Given the description of an element on the screen output the (x, y) to click on. 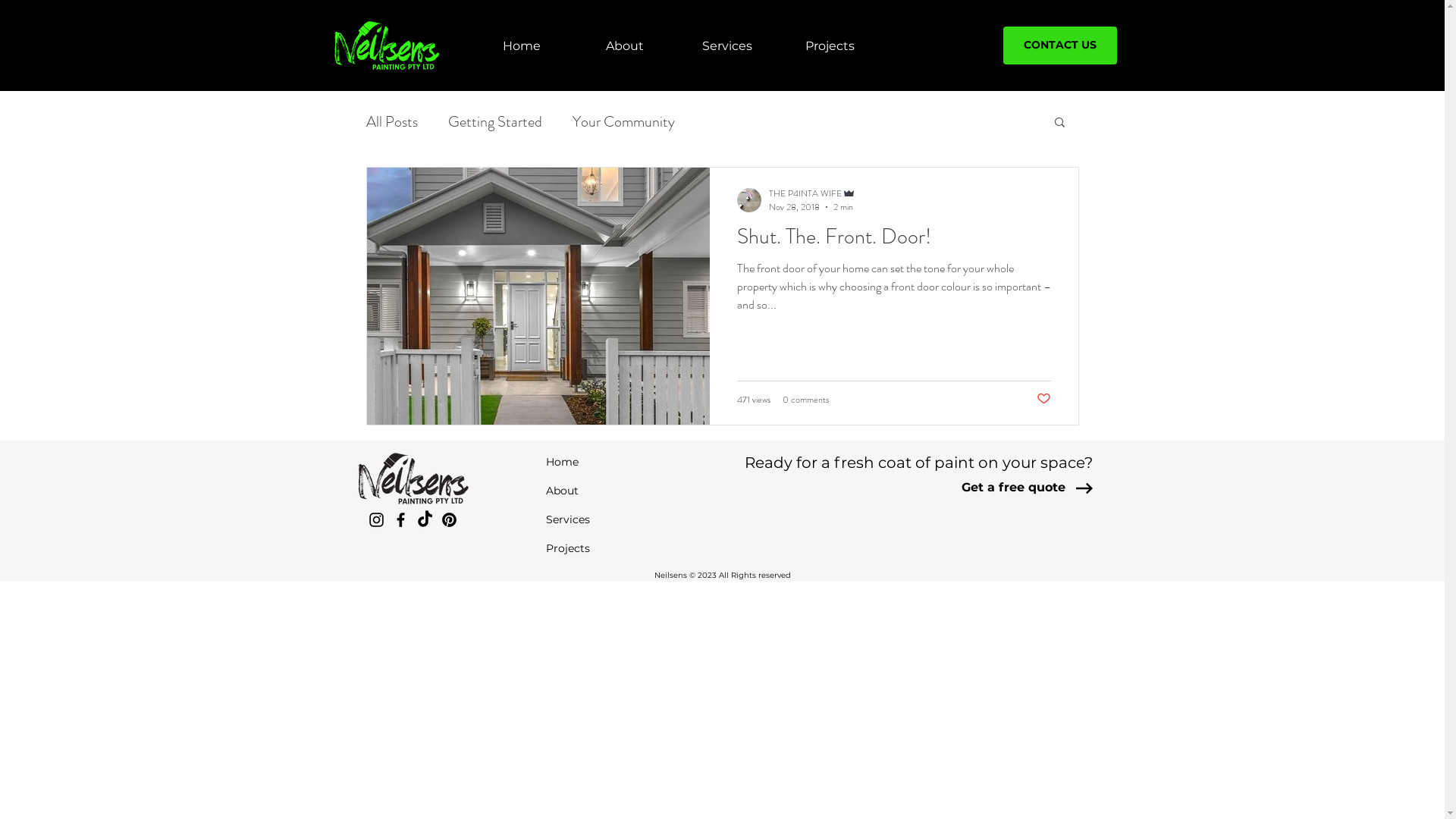
Post not marked as liked Element type: text (1042, 399)
Shut. The. Front. Door! Element type: text (894, 240)
About Element type: text (591, 490)
CONTACT US Element type: text (1059, 45)
0 comments Element type: text (805, 399)
Home Element type: text (521, 39)
All Posts Element type: text (391, 121)
THE P4INTA WIFE Element type: text (812, 192)
Get a free quote Element type: text (1013, 487)
Projects Element type: text (591, 547)
About Element type: text (624, 39)
Projects Element type: text (829, 39)
Home Element type: text (591, 461)
Your Community Element type: text (622, 121)
Getting Started Element type: text (494, 121)
